Given the description of an element on the screen output the (x, y) to click on. 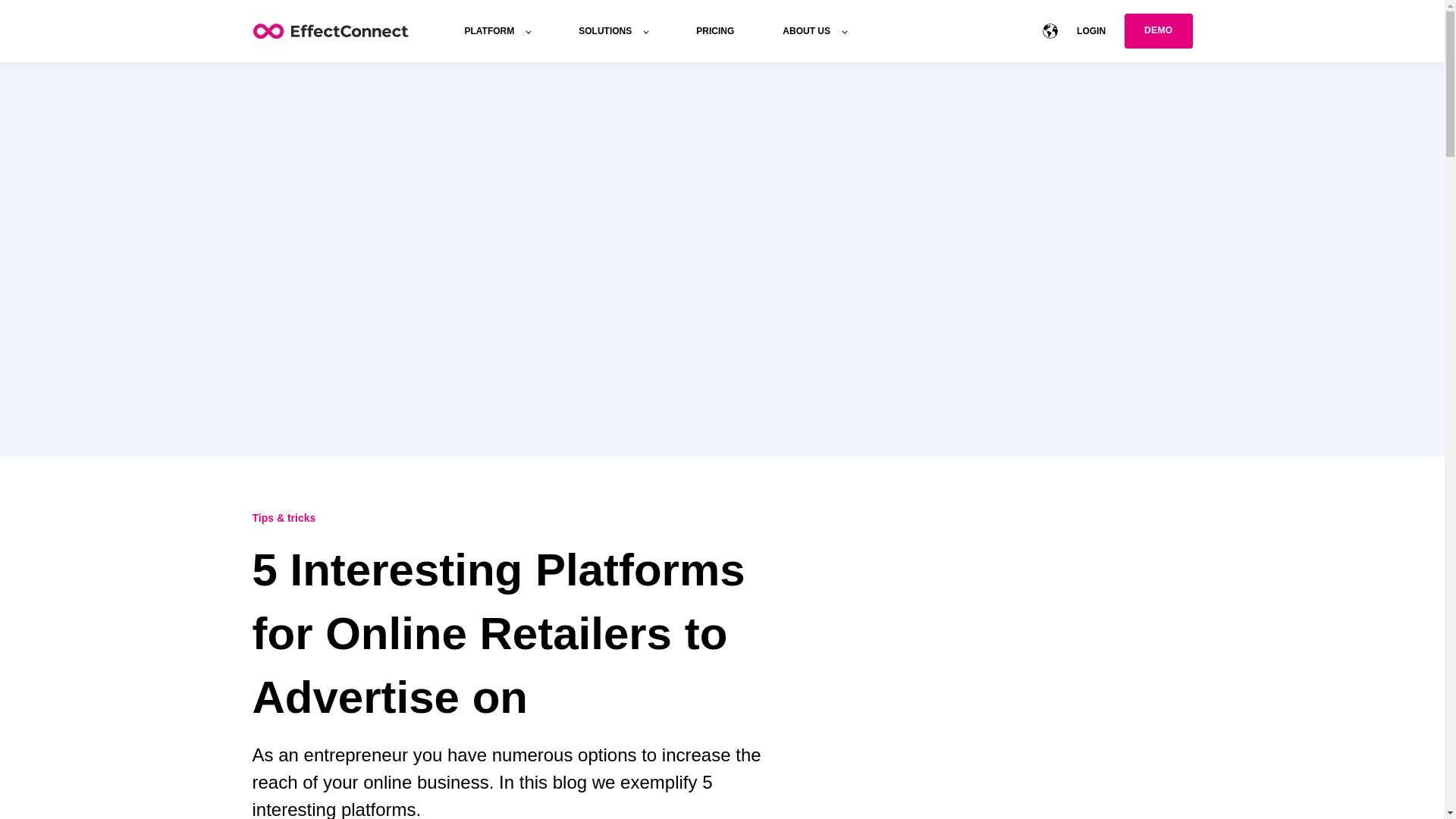
PRICING (714, 30)
PLATFORM (496, 30)
DEMO (1158, 30)
ABOUT US (814, 30)
LOGIN (1091, 30)
SOLUTIONS (612, 30)
